Given the description of an element on the screen output the (x, y) to click on. 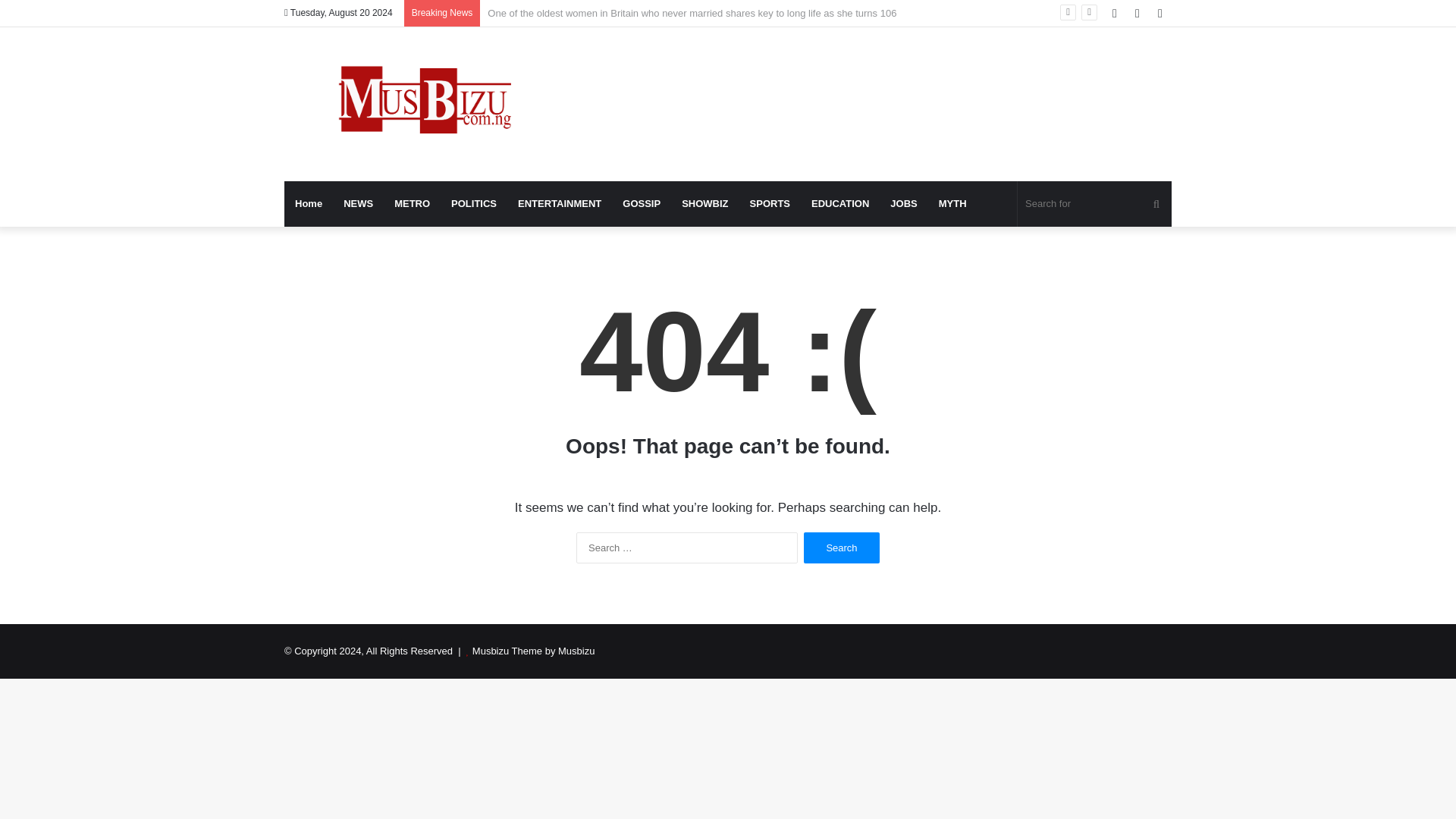
Home (308, 203)
Musbizu (423, 103)
Search (841, 547)
POLITICS (473, 203)
EDUCATION (839, 203)
SHOWBIZ (704, 203)
Search for (1094, 203)
JOBS (903, 203)
MYTH (952, 203)
ENTERTAINMENT (558, 203)
